Given the description of an element on the screen output the (x, y) to click on. 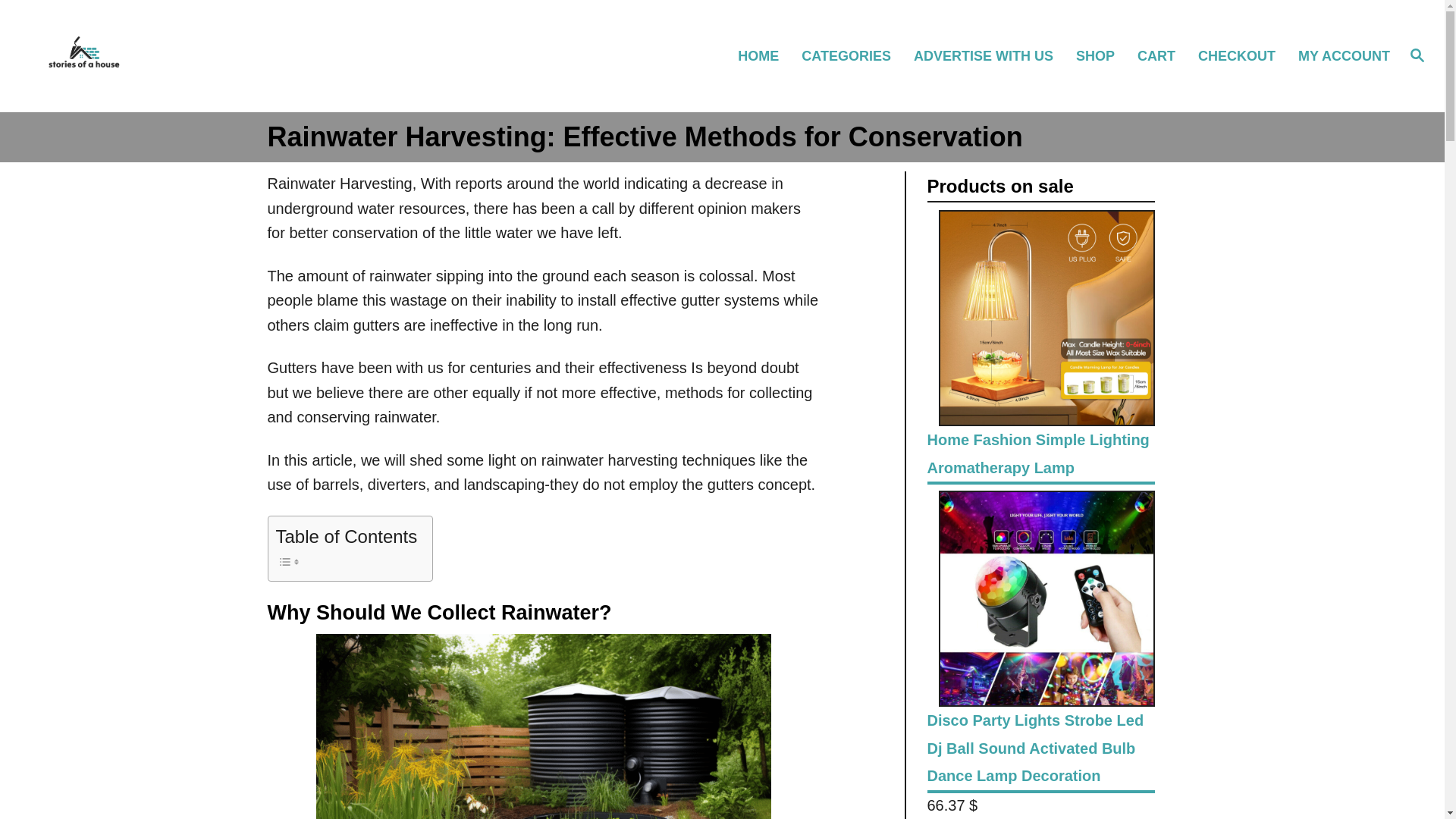
ADVERTISE WITH US (989, 55)
MY ACCOUNT (1342, 55)
CHECKOUT (1243, 55)
Stories of a House (204, 56)
SHOP (1101, 55)
CART (1162, 55)
CATEGORIES (852, 55)
Magnifying Glass (1416, 54)
HOME (764, 55)
